Given the description of an element on the screen output the (x, y) to click on. 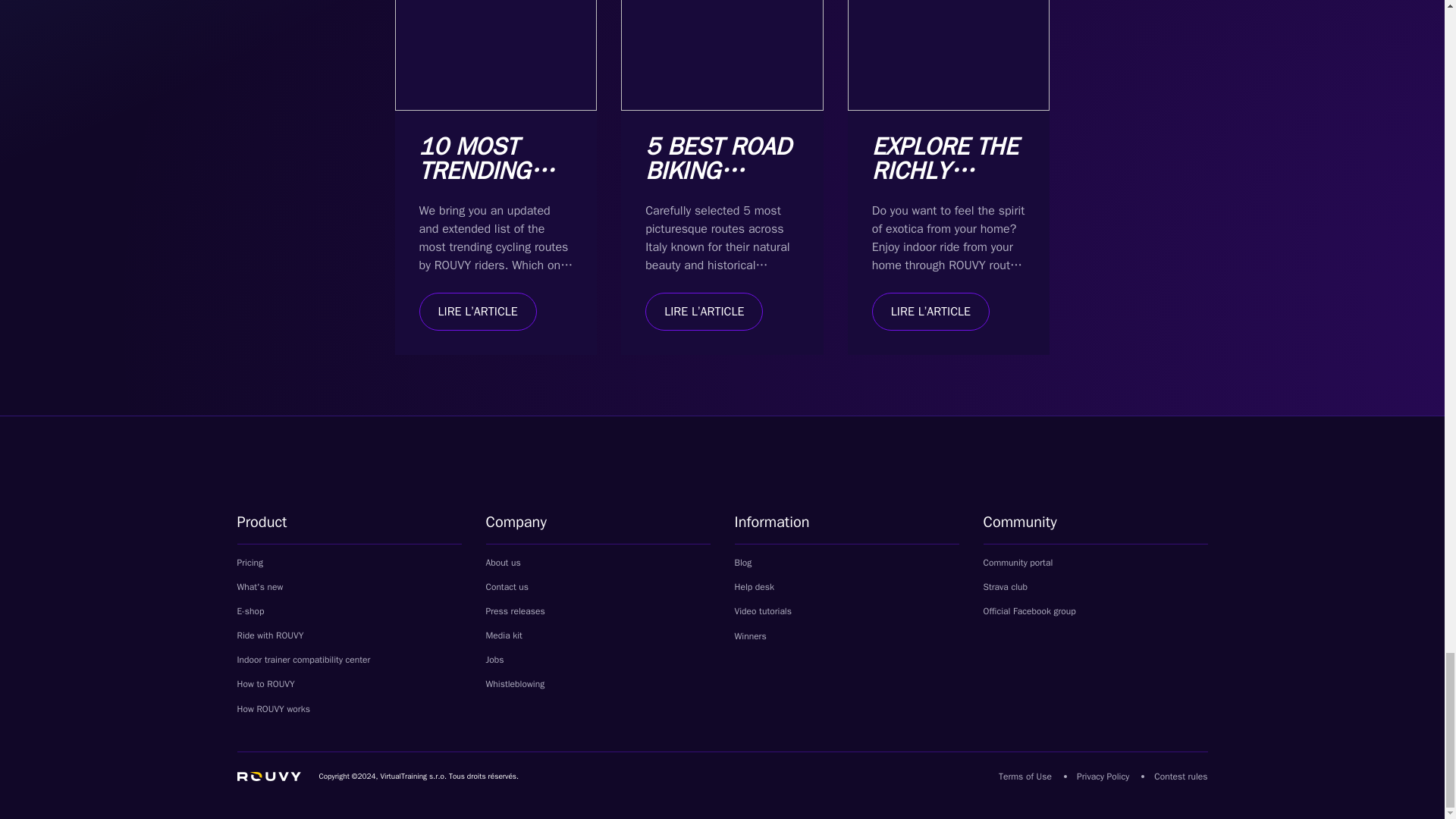
Indoor trainer compatibility center (302, 659)
How to ROUVY (271, 684)
Press releases (514, 611)
How ROUVY works (271, 708)
Media kit (510, 635)
Jobs (493, 659)
What's new (258, 586)
About us (501, 562)
10 MOST TRENDING ROUTES ON ROUVY RIGHT NOW (491, 195)
Contact us (506, 586)
EXPLORE THE RICHLY EXOTIC NATURAL WONDERS OF VIETNAM (944, 207)
Whistleblowing (521, 684)
Ride with ROUVY (268, 635)
Pricing (249, 562)
E-shop (257, 611)
